Given the description of an element on the screen output the (x, y) to click on. 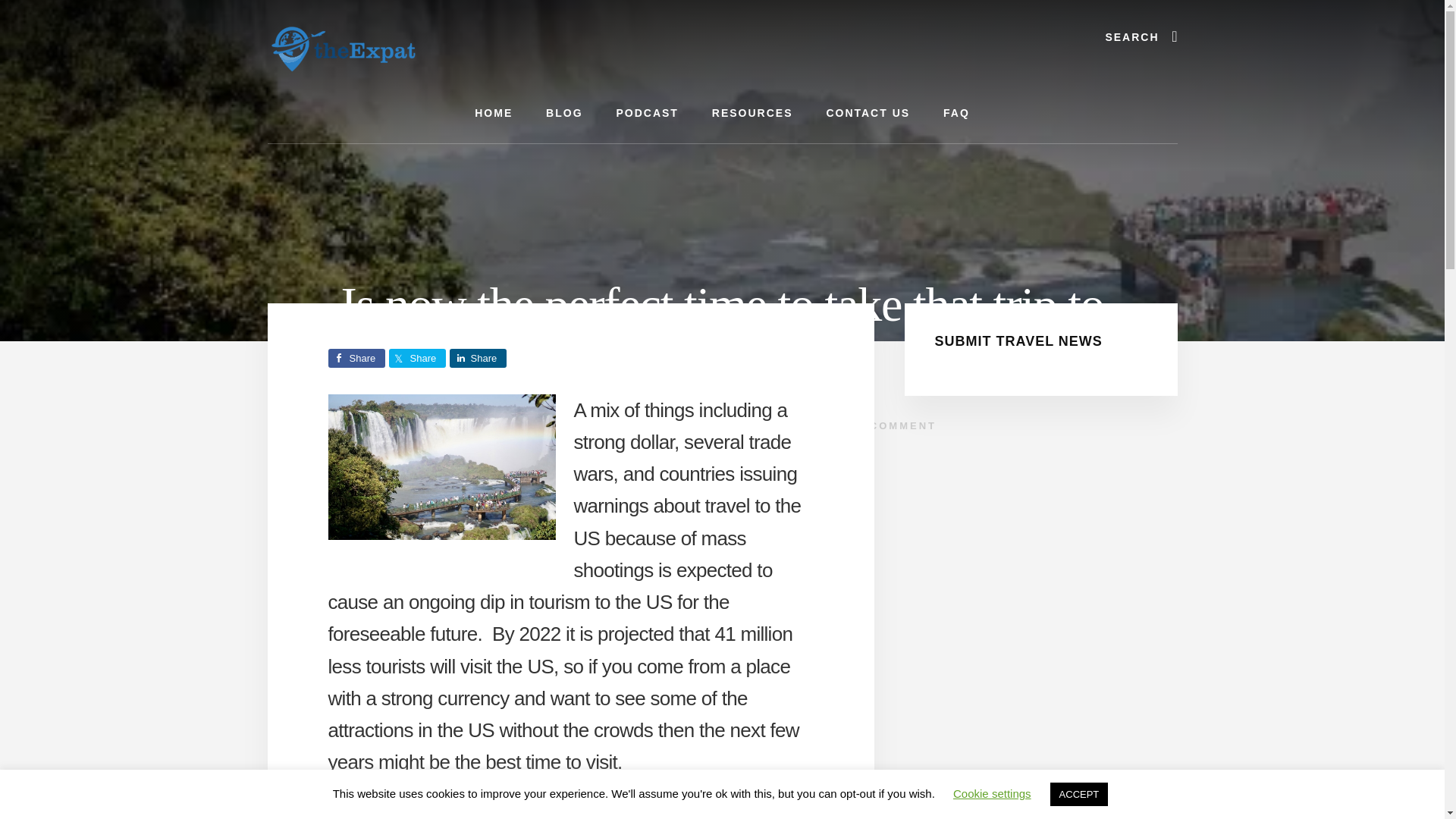
FAQ (956, 113)
Cookie settings (991, 793)
CONTACT US (867, 113)
ACCEPT (1078, 793)
BLOG (563, 113)
TRAVEL NEWS (556, 425)
Share (355, 357)
Share (476, 357)
LEAVE A COMMENT (872, 425)
